Given the description of an element on the screen output the (x, y) to click on. 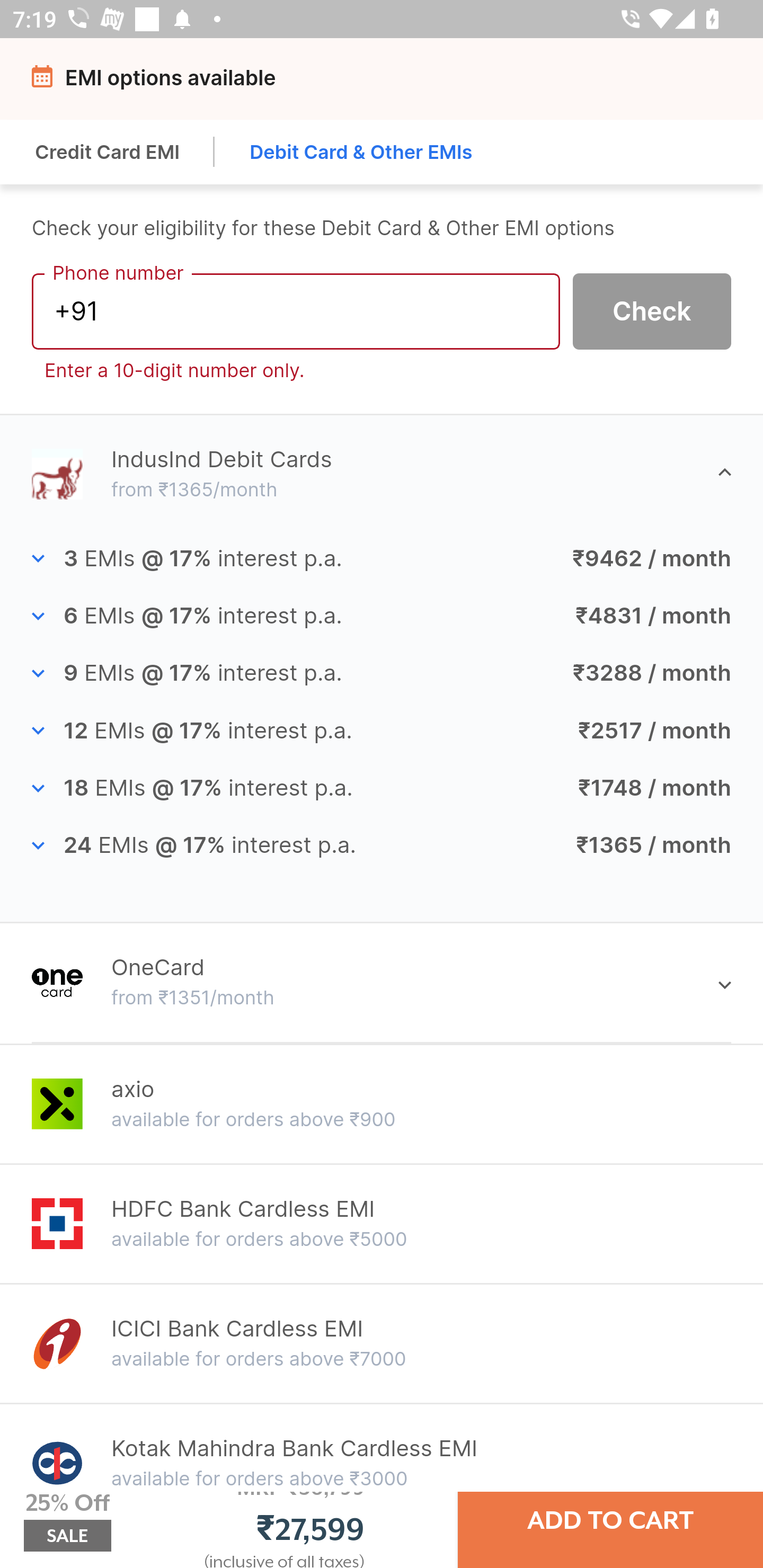
Navigate up (44, 82)
Credit Card EMI (107, 152)
Debit Card & Other EMIs (361, 152)
Check (651, 310)
3 EMIs @ 17% interest p.a. ₹9462 / month (381, 558)
6 EMIs @ 17% interest p.a. ₹4831 / month (381, 615)
9 EMIs @ 17% interest p.a. ₹3288 / month (381, 673)
12 EMIs @ 17% interest p.a. ₹2517 / month (381, 729)
18 EMIs @ 17% interest p.a. ₹1748 / month (381, 788)
24 EMIs @ 17% interest p.a. ₹1365 / month (381, 845)
OneCard OneCard from ₹1351/month (381, 982)
ADD TO CART (610, 1520)
